Given the description of an element on the screen output the (x, y) to click on. 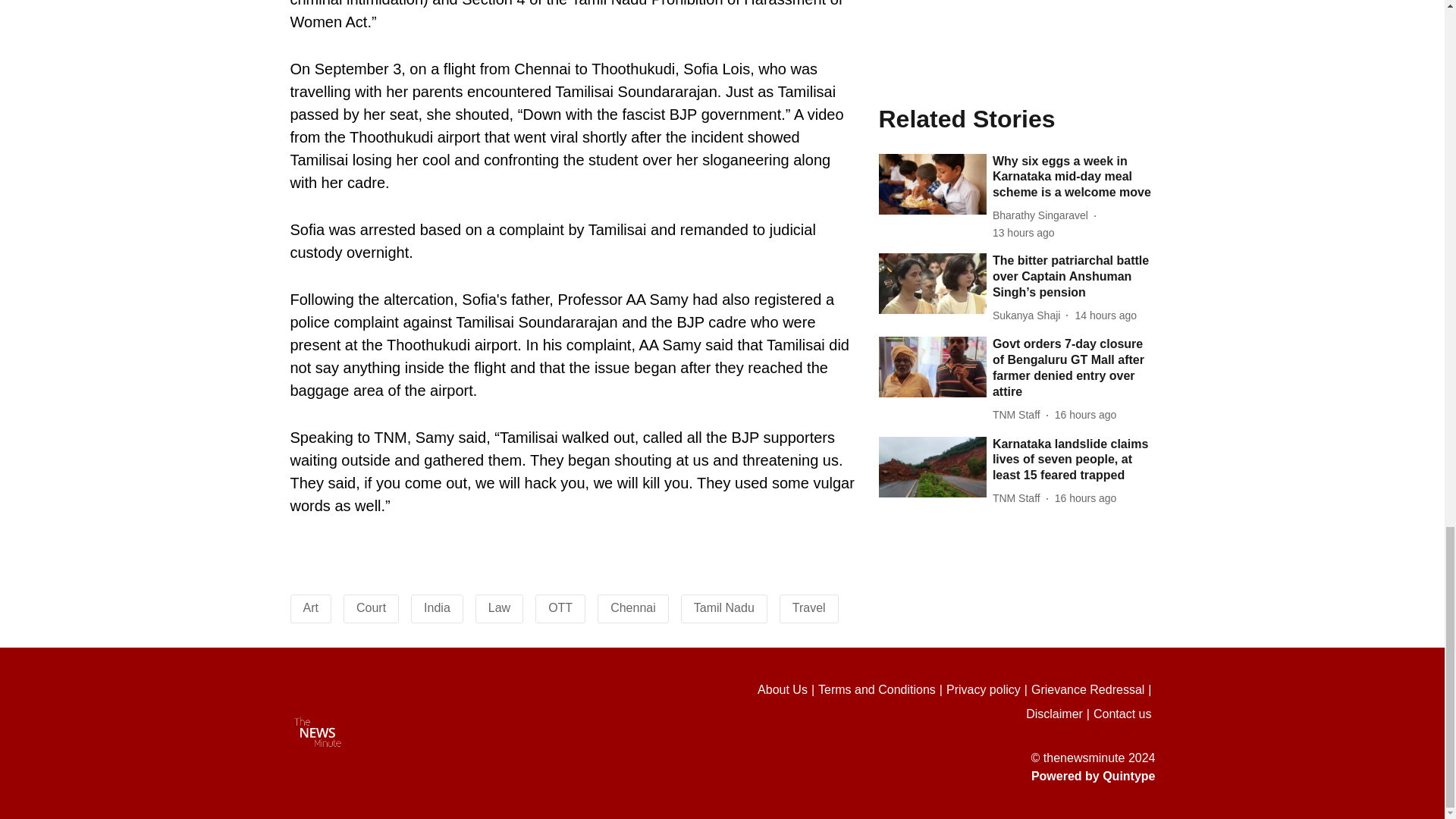
Art (310, 607)
OTT (560, 607)
Tamil Nadu (724, 607)
India (436, 607)
Court (370, 607)
Law (499, 607)
Chennai (633, 607)
Travel (808, 607)
